Given the description of an element on the screen output the (x, y) to click on. 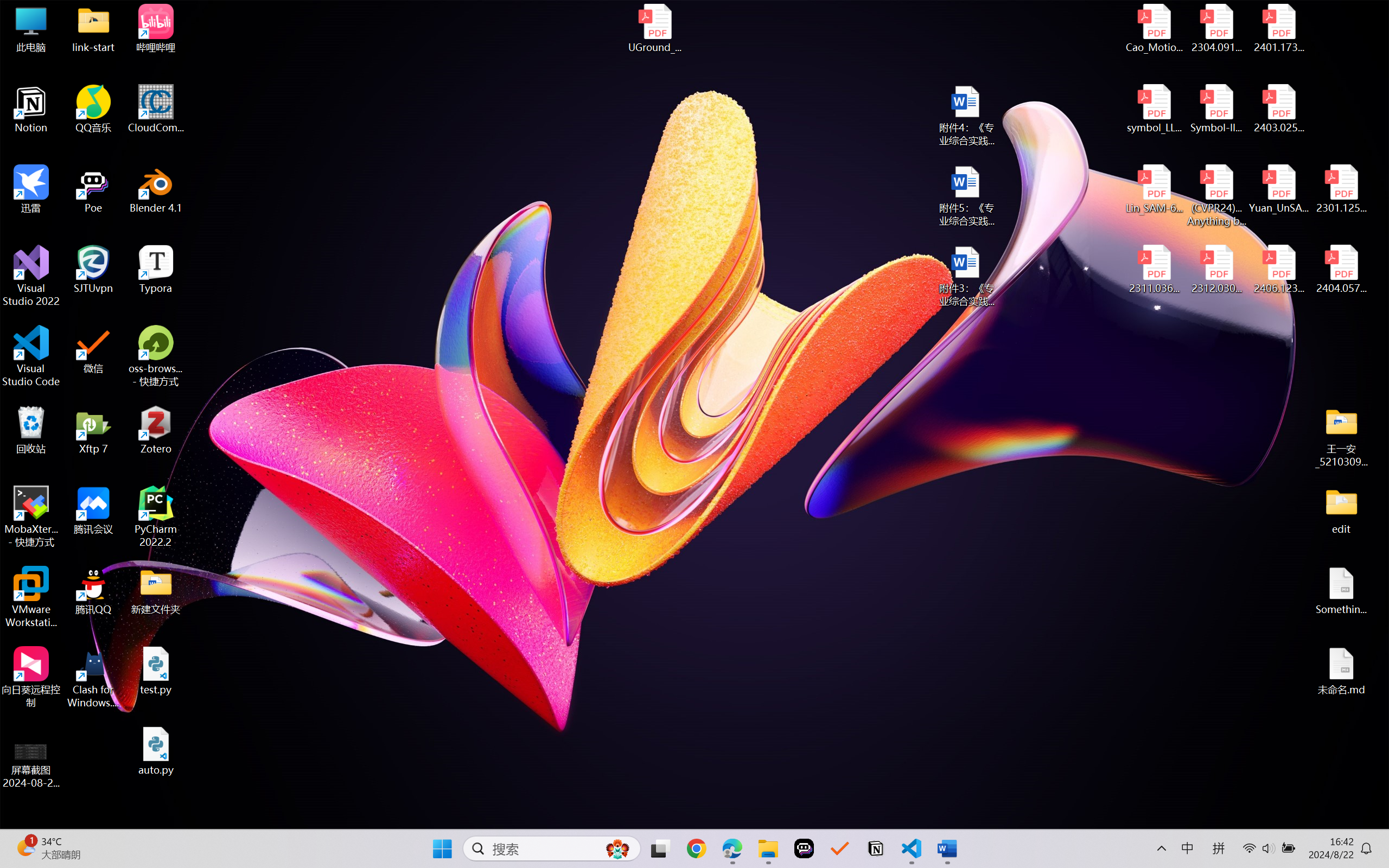
Blender 4.1 (156, 189)
2311.03658v2.pdf (1154, 269)
Symbol-llm-v2.pdf (1216, 109)
